Given the description of an element on the screen output the (x, y) to click on. 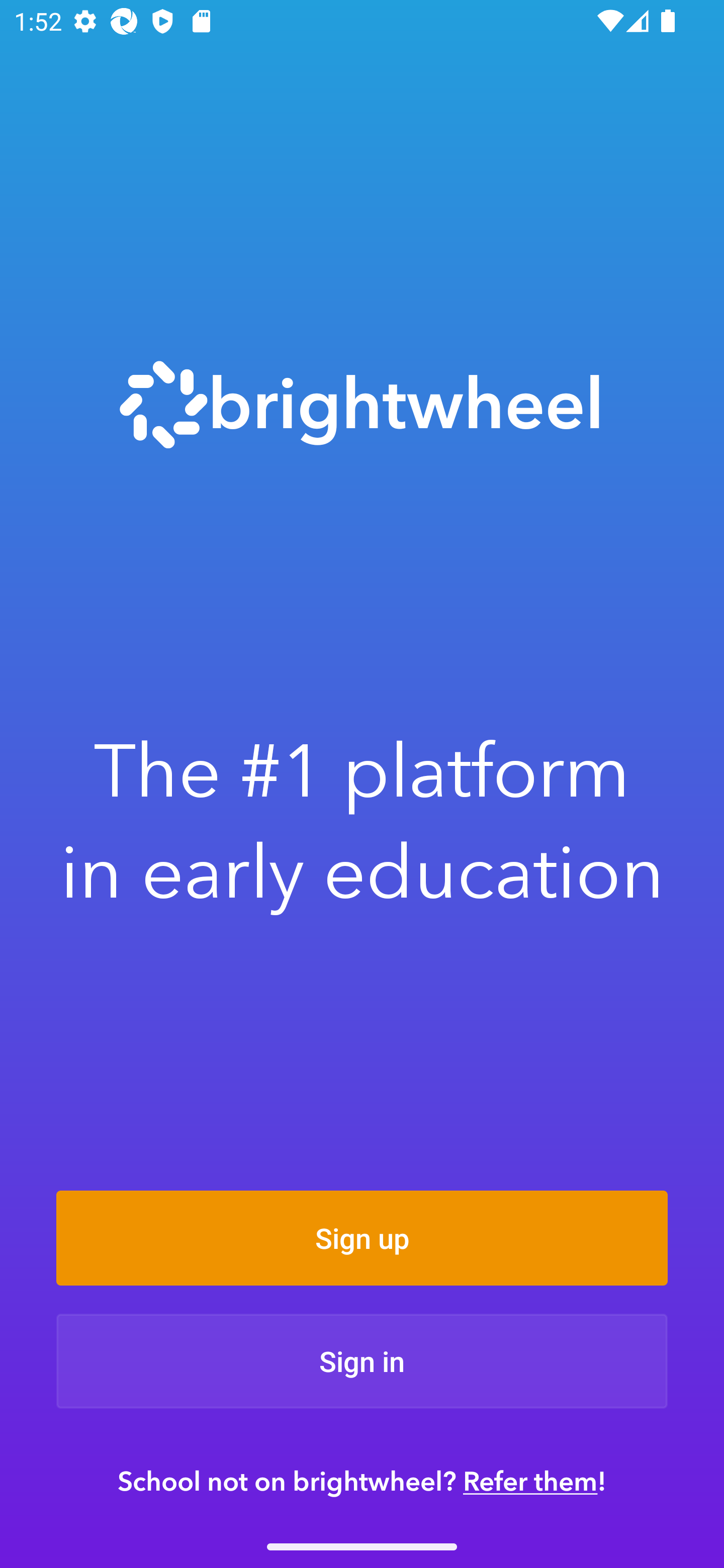
Sign up (361, 1237)
Sign in (361, 1360)
School not on brightwheel? Refer them! (361, 1480)
